Given the description of an element on the screen output the (x, y) to click on. 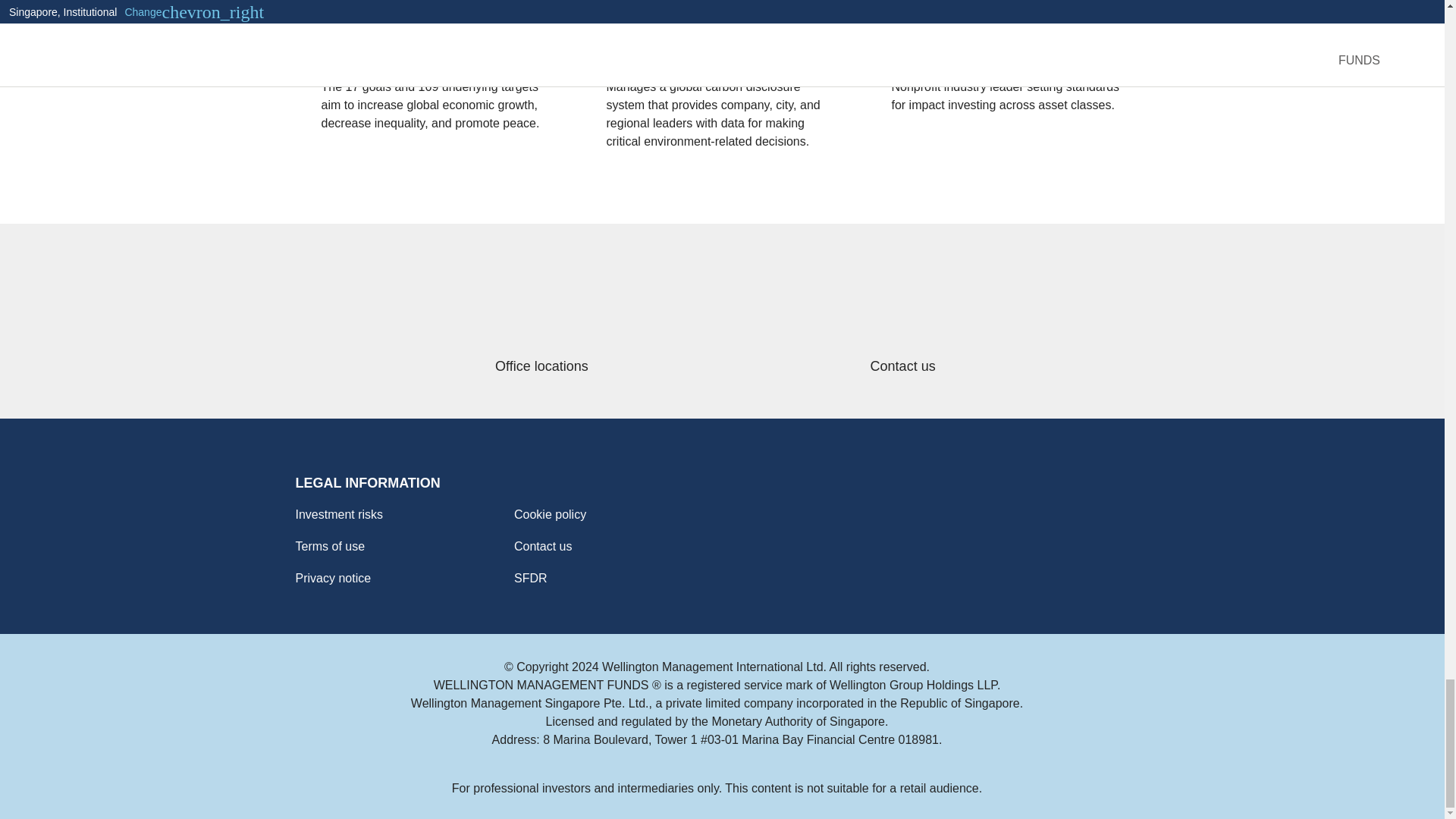
Terms of use (394, 546)
Contact us (903, 321)
SFDR (612, 578)
Investment risks (394, 514)
Cookie policy (612, 514)
Office locations (541, 321)
Privacy notice (394, 578)
Contact us (612, 546)
